Given the description of an element on the screen output the (x, y) to click on. 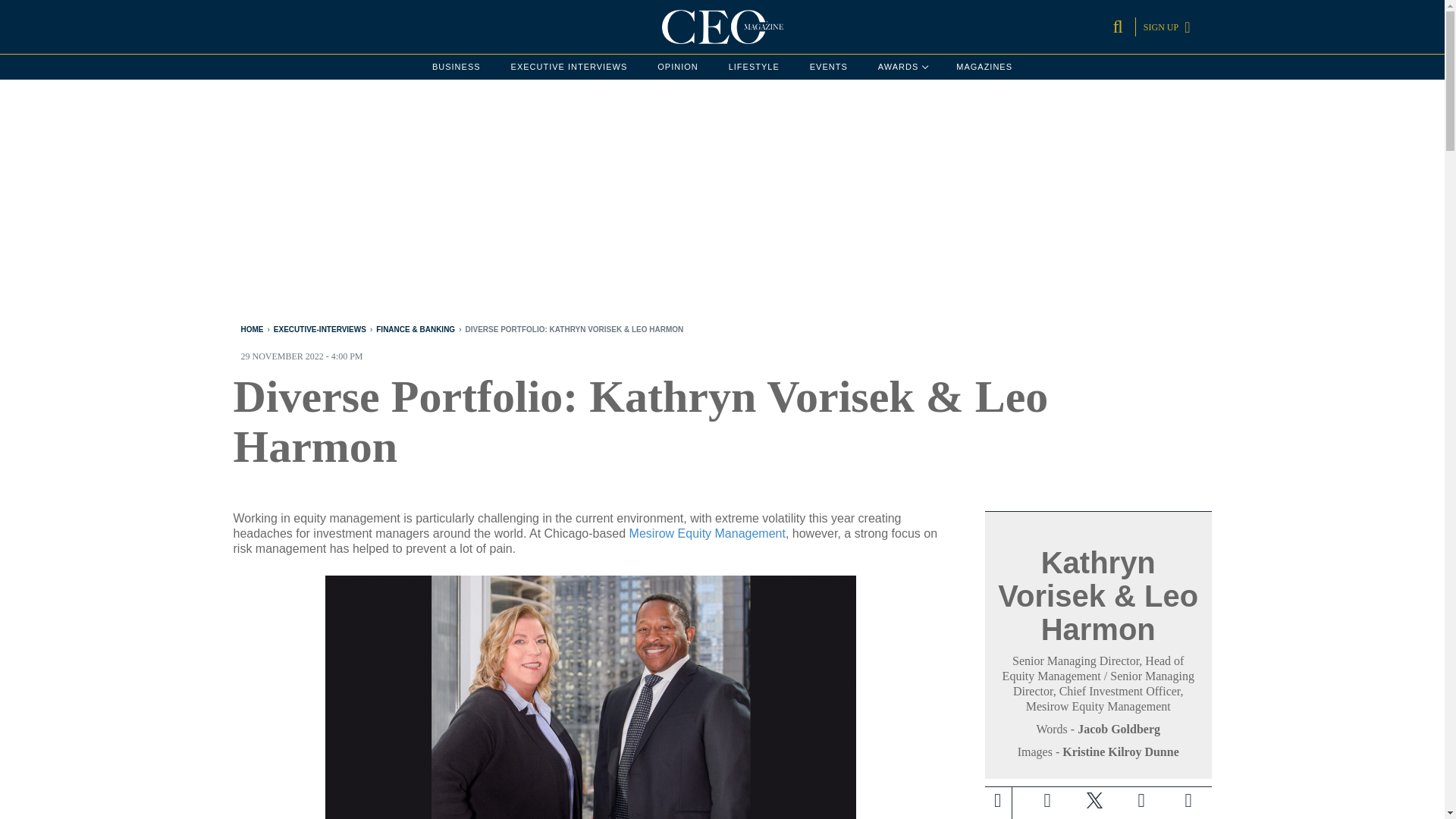
Executive Interviews (901, 67)
Share to Twitter (569, 67)
LIFESTYLE (1093, 800)
Opinion (753, 67)
BUSINESS (677, 67)
EVENTS (456, 67)
EXECUTIVE INTERVIEWS (828, 67)
Subscribe (569, 67)
Skip to content (1187, 800)
